Given the description of an element on the screen output the (x, y) to click on. 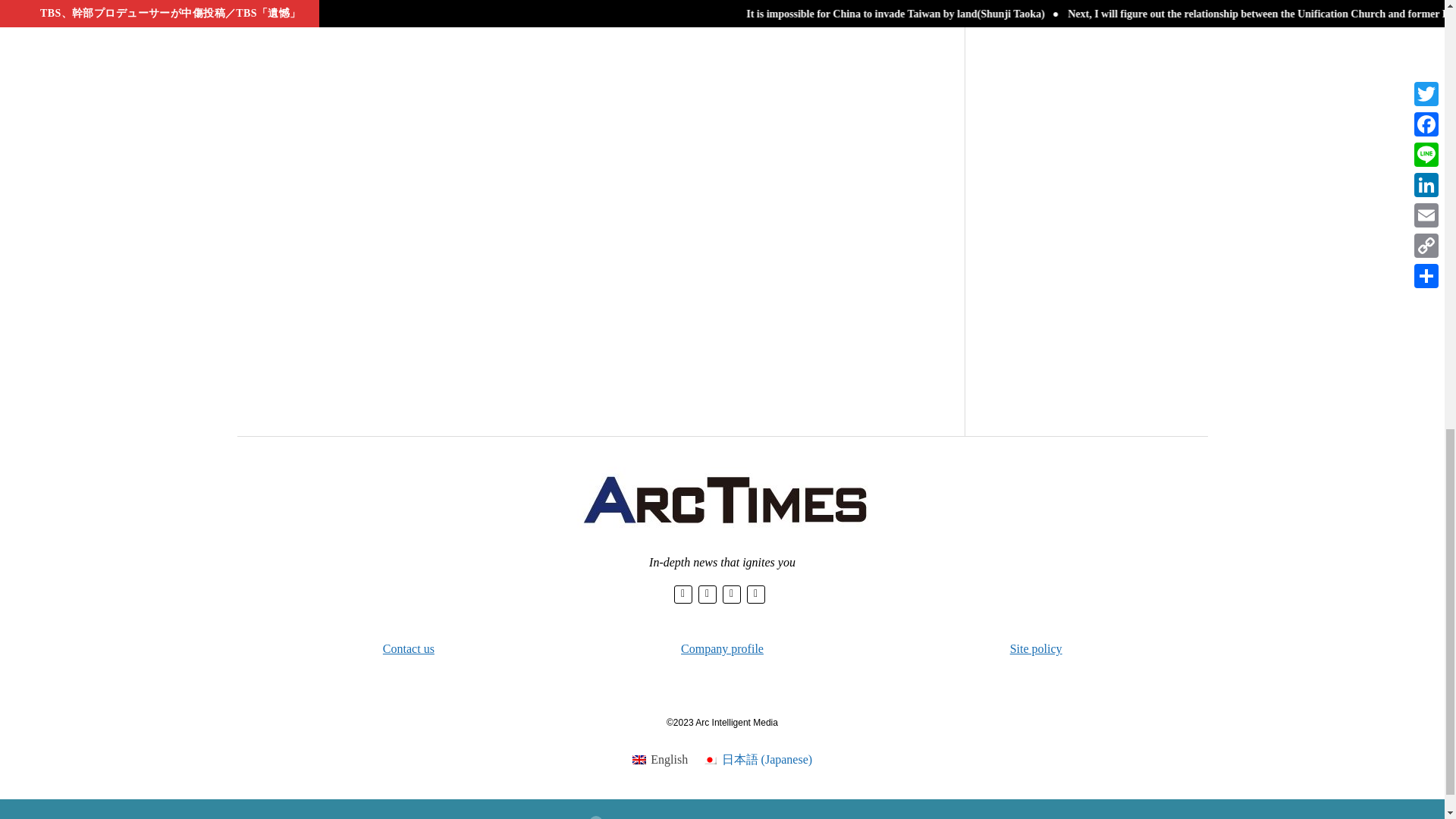
Contact us (407, 648)
Company profile (721, 648)
Site policy (1036, 648)
